Given the description of an element on the screen output the (x, y) to click on. 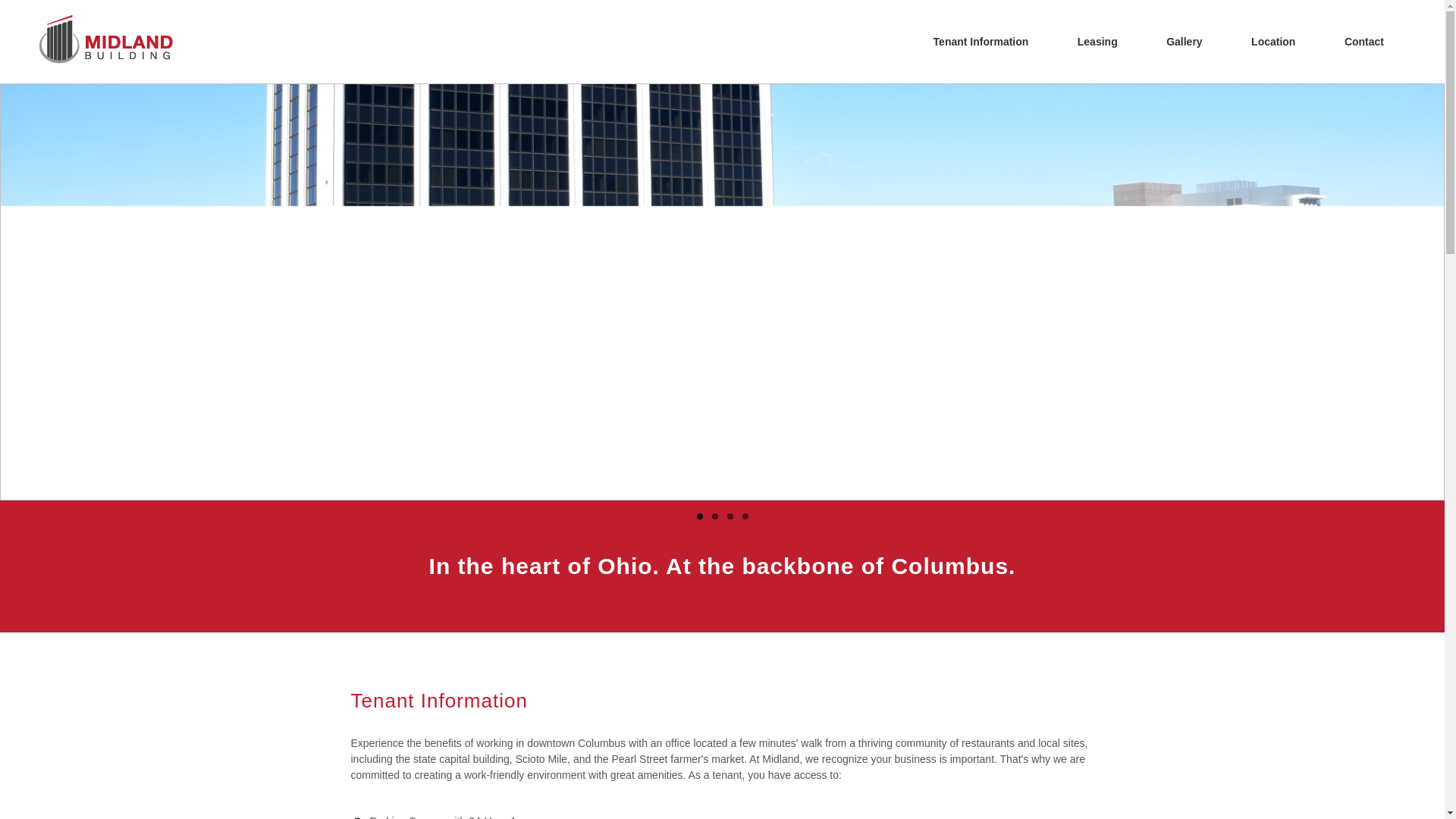
4 Element type: text (744, 516)
Gallery Element type: text (1183, 41)
1 Element type: text (699, 516)
3 Element type: text (729, 516)
Location Element type: text (1273, 41)
2 Element type: text (714, 516)
Contact Element type: text (1363, 41)
Tenant Information Element type: text (981, 41)
Leasing Element type: text (1097, 41)
